Given the description of an element on the screen output the (x, y) to click on. 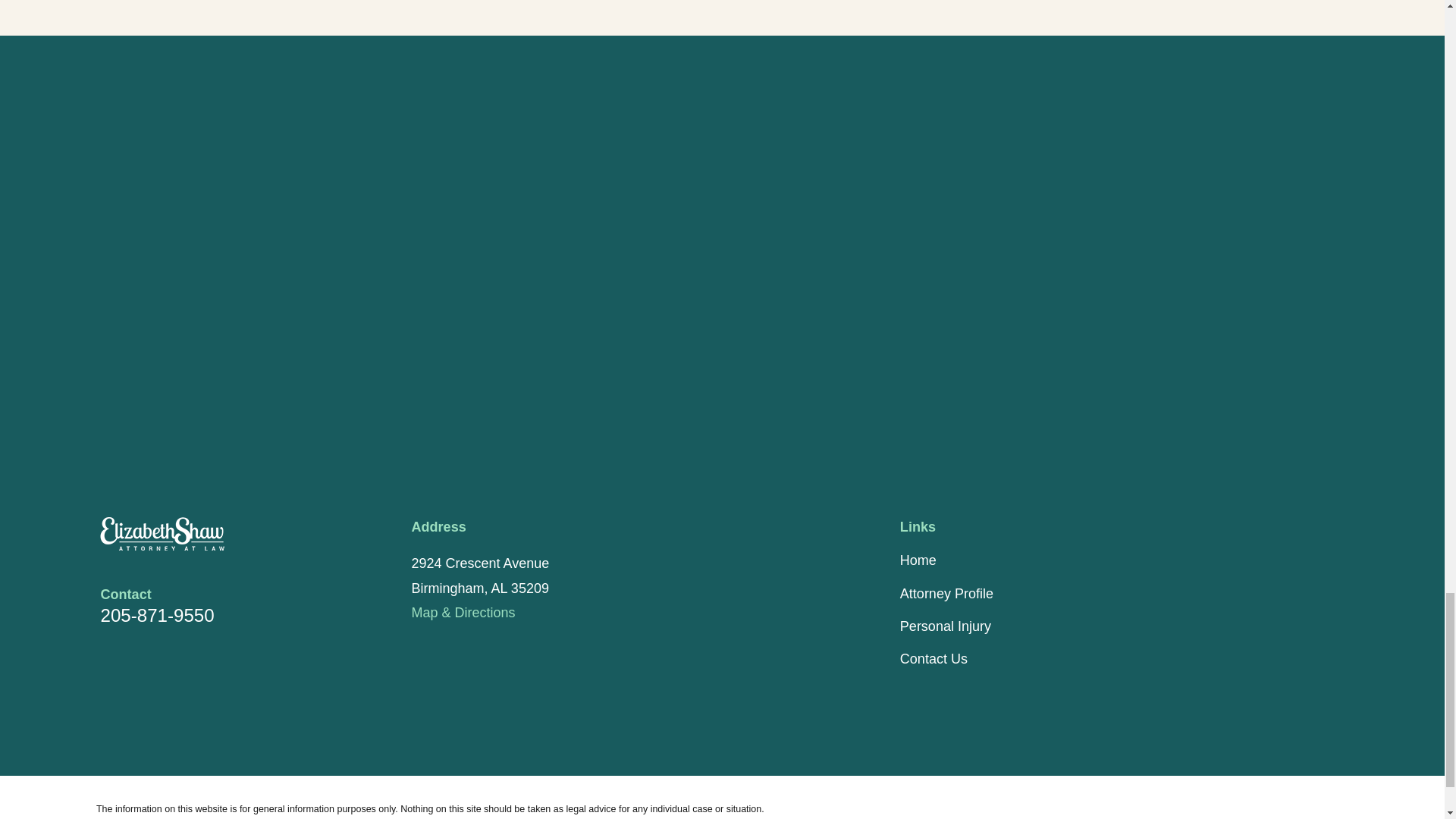
Home (209, 533)
Elizabeth Shaw, Attorney At Law (162, 533)
